Given the description of an element on the screen output the (x, y) to click on. 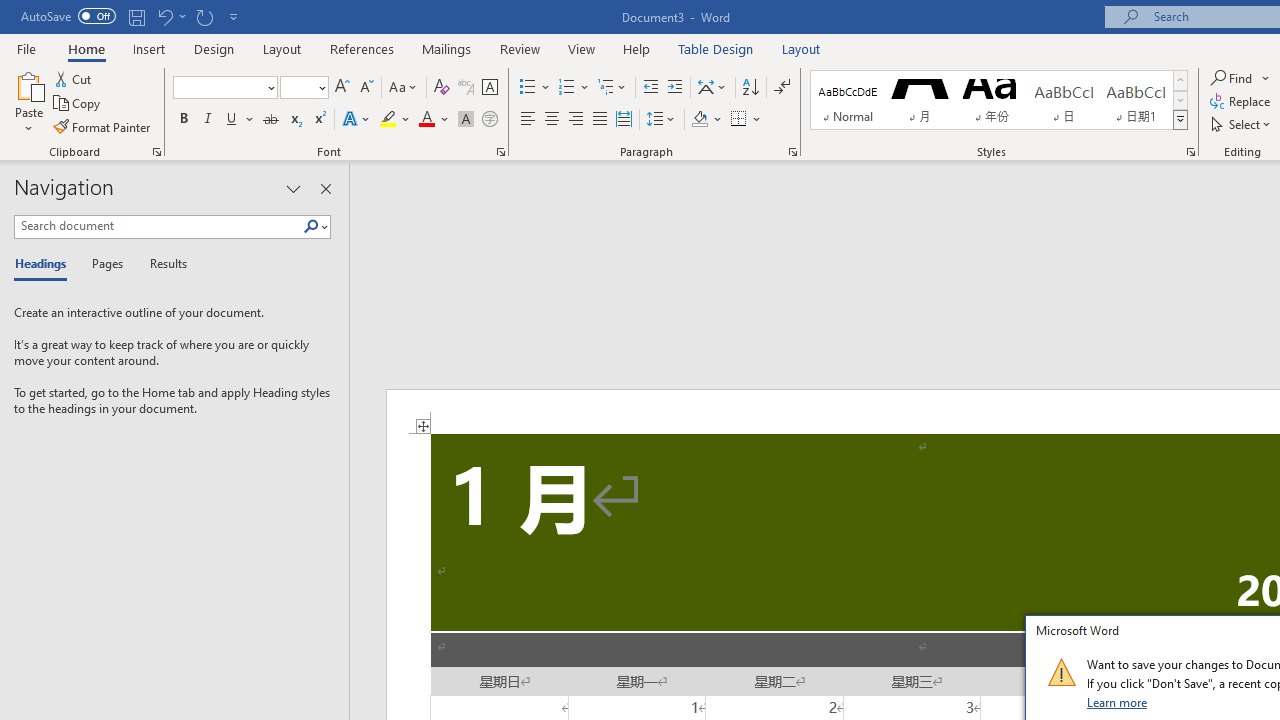
Results (161, 264)
AutomationID: QuickStylesGallery (999, 99)
Font... (500, 151)
Show/Hide Editing Marks (781, 87)
Grow Font (342, 87)
Styles... (1190, 151)
Learn more (1118, 702)
